Given the description of an element on the screen output the (x, y) to click on. 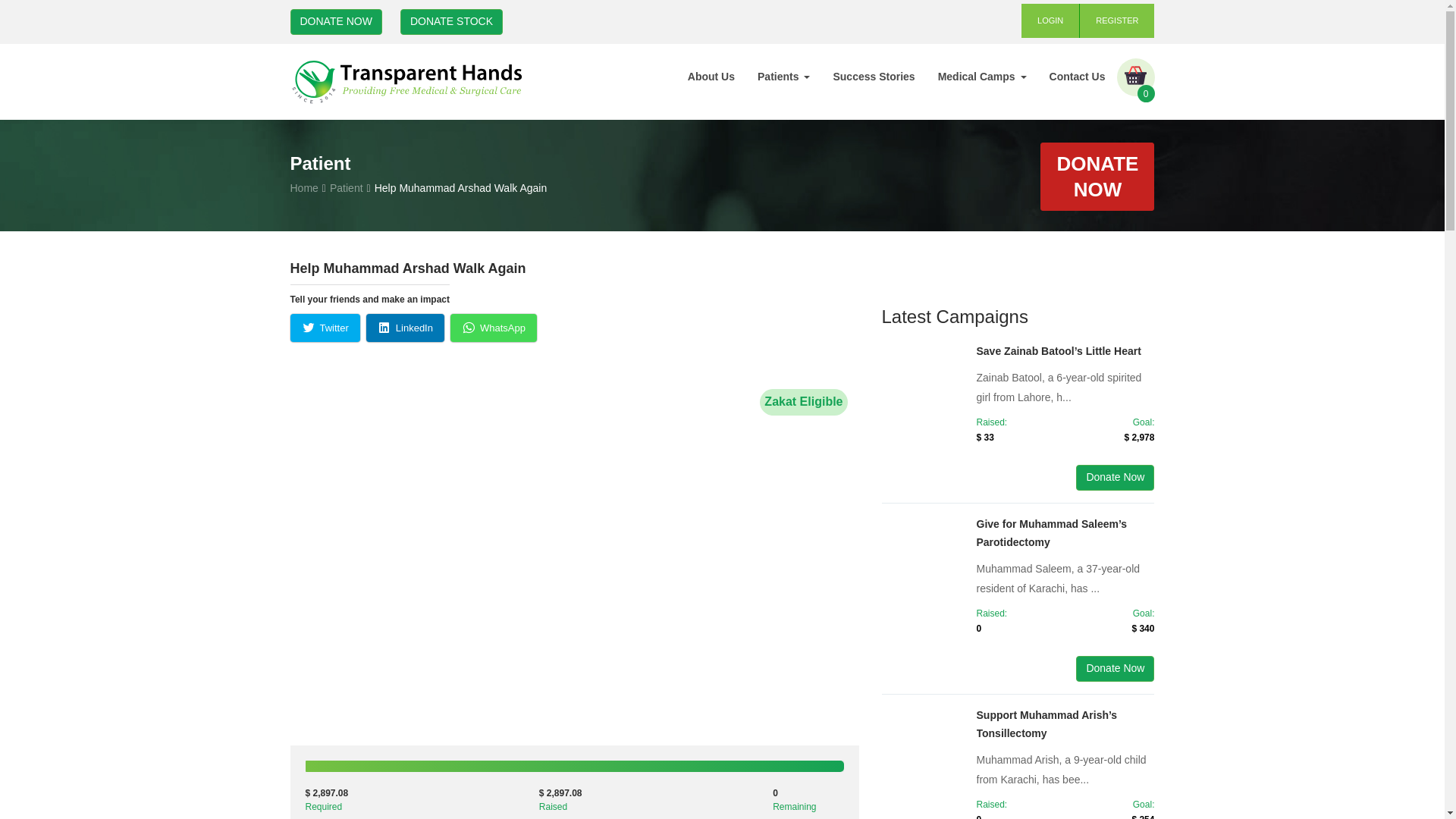
WhatsApp (493, 327)
DONATE NOW (1097, 176)
LOGIN (1051, 20)
Medical Camps (982, 76)
About Us (711, 76)
DONATE STOCK (451, 22)
Success Stories (873, 76)
LinkedIn (405, 327)
Contact Us (1077, 76)
Patient (346, 187)
DONATE NOW (335, 22)
Click to share on WhatsApp (493, 327)
Patients (783, 76)
Twitter (324, 327)
Home (303, 187)
